Given the description of an element on the screen output the (x, y) to click on. 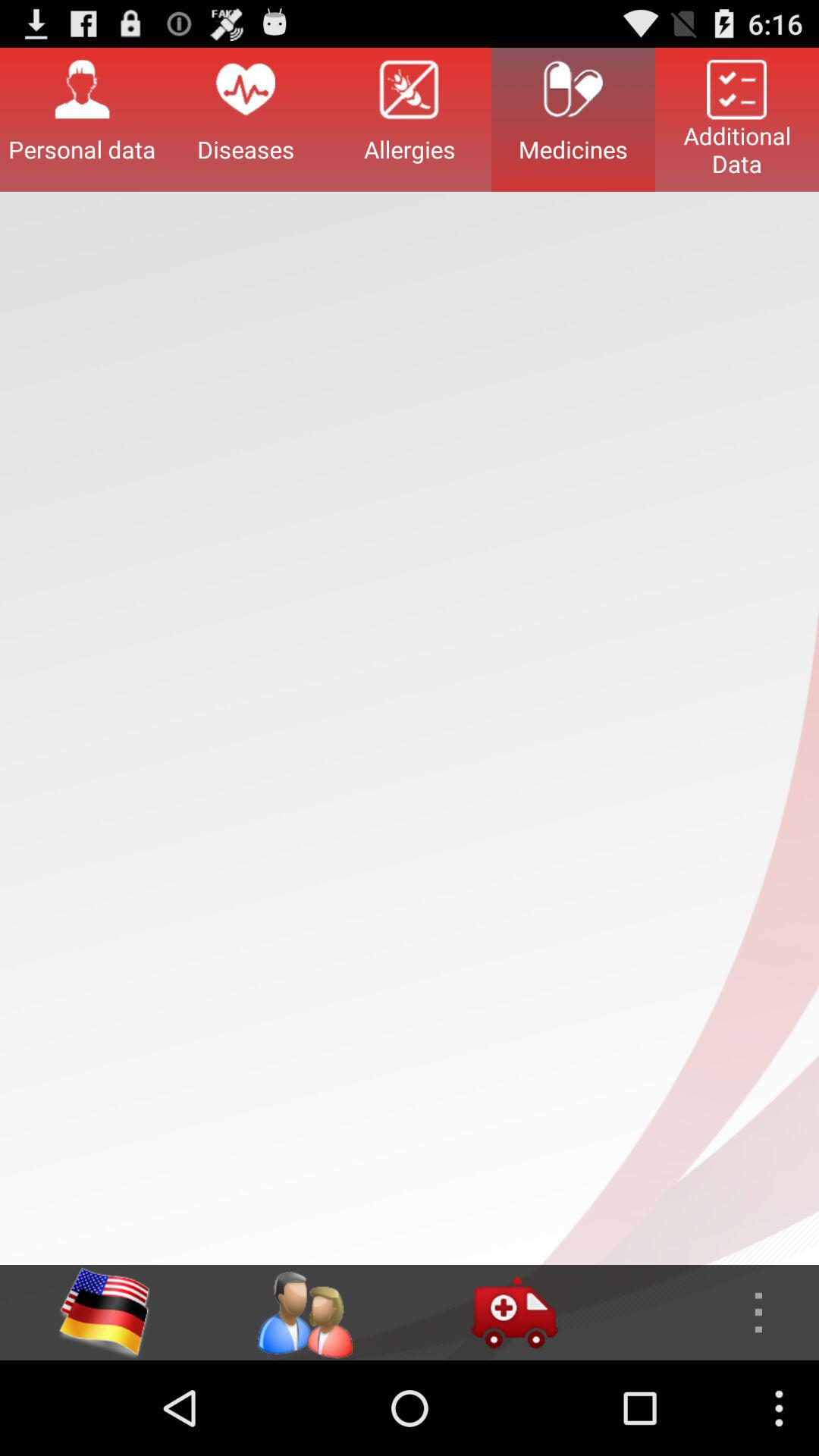
turn on medicines (573, 119)
